Given the description of an element on the screen output the (x, y) to click on. 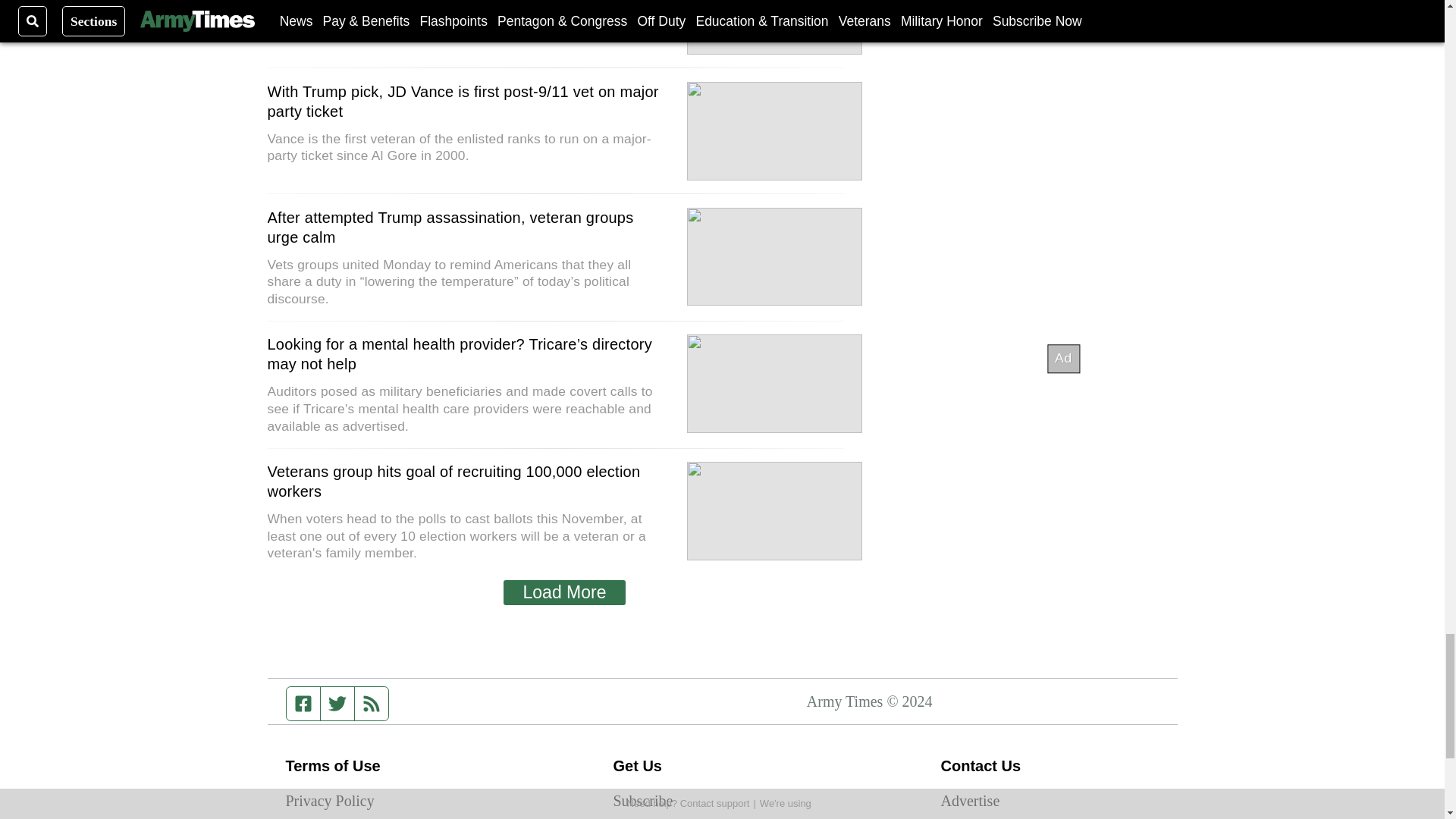
Twitter feed (336, 703)
RSS feed (371, 703)
Facebook page (303, 703)
